Given the description of an element on the screen output the (x, y) to click on. 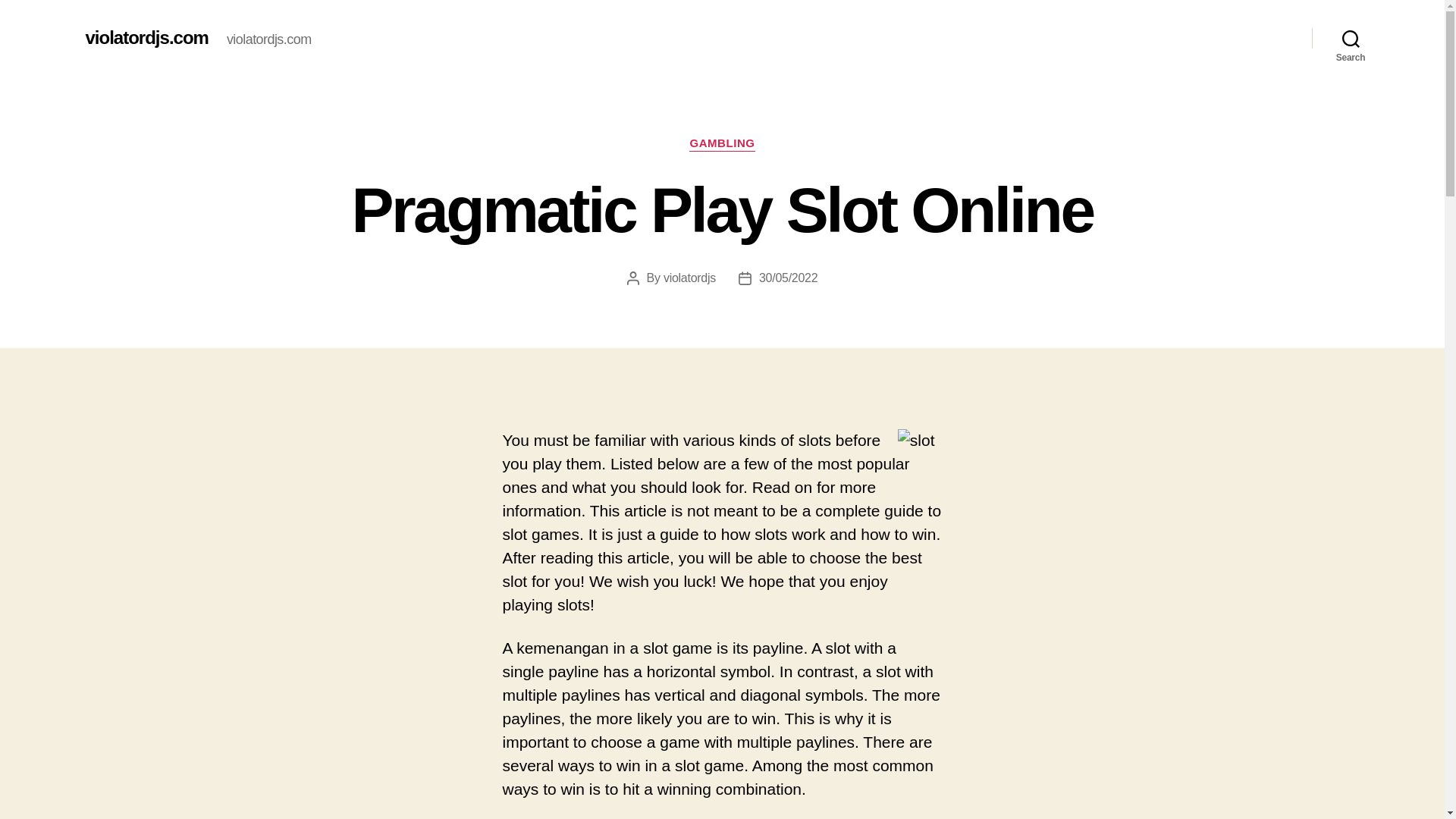
GAMBLING (721, 143)
Search (1350, 37)
violatordjs (689, 277)
violatordjs.com (146, 37)
